Given the description of an element on the screen output the (x, y) to click on. 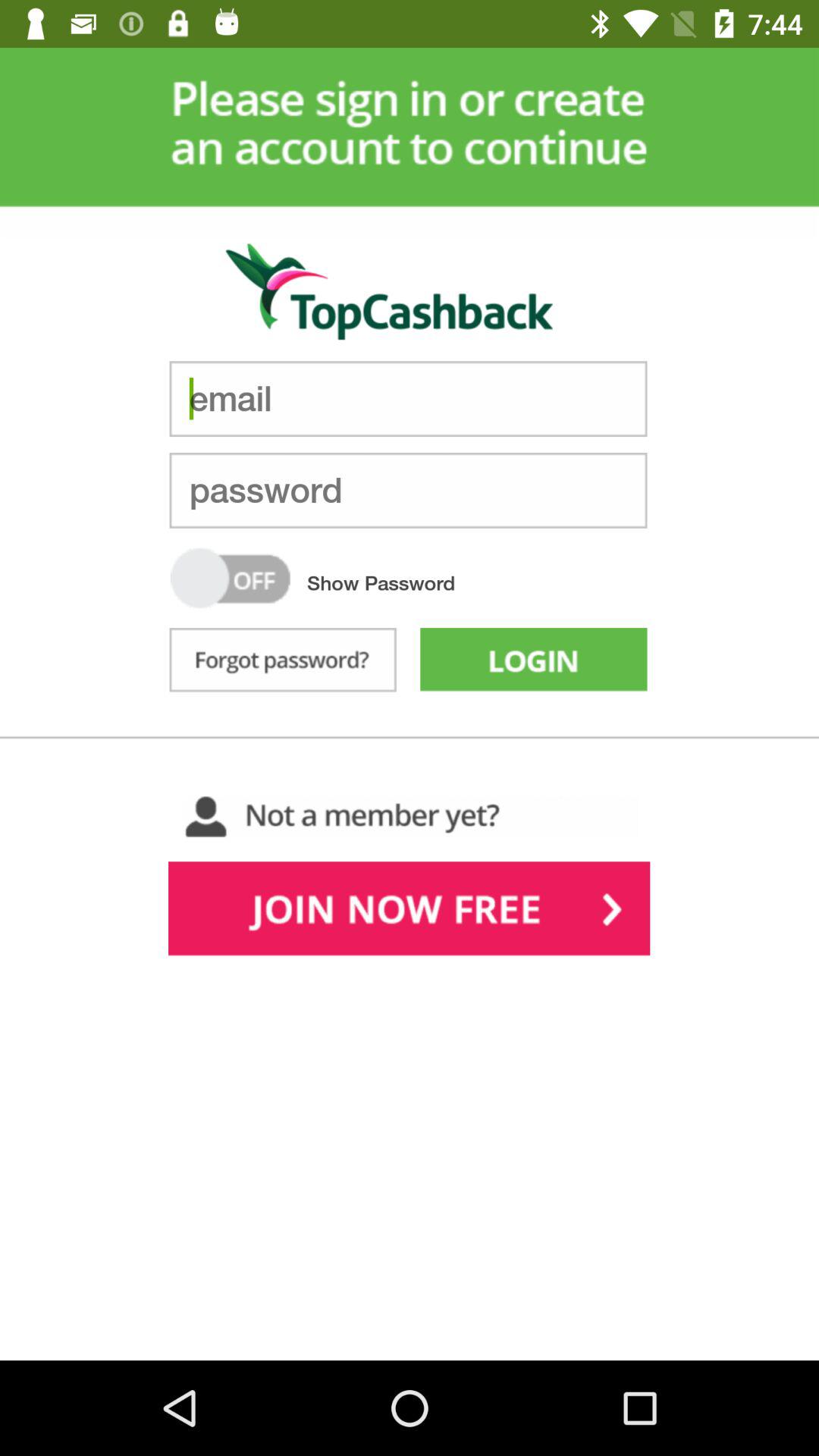
input email (408, 398)
